Given the description of an element on the screen output the (x, y) to click on. 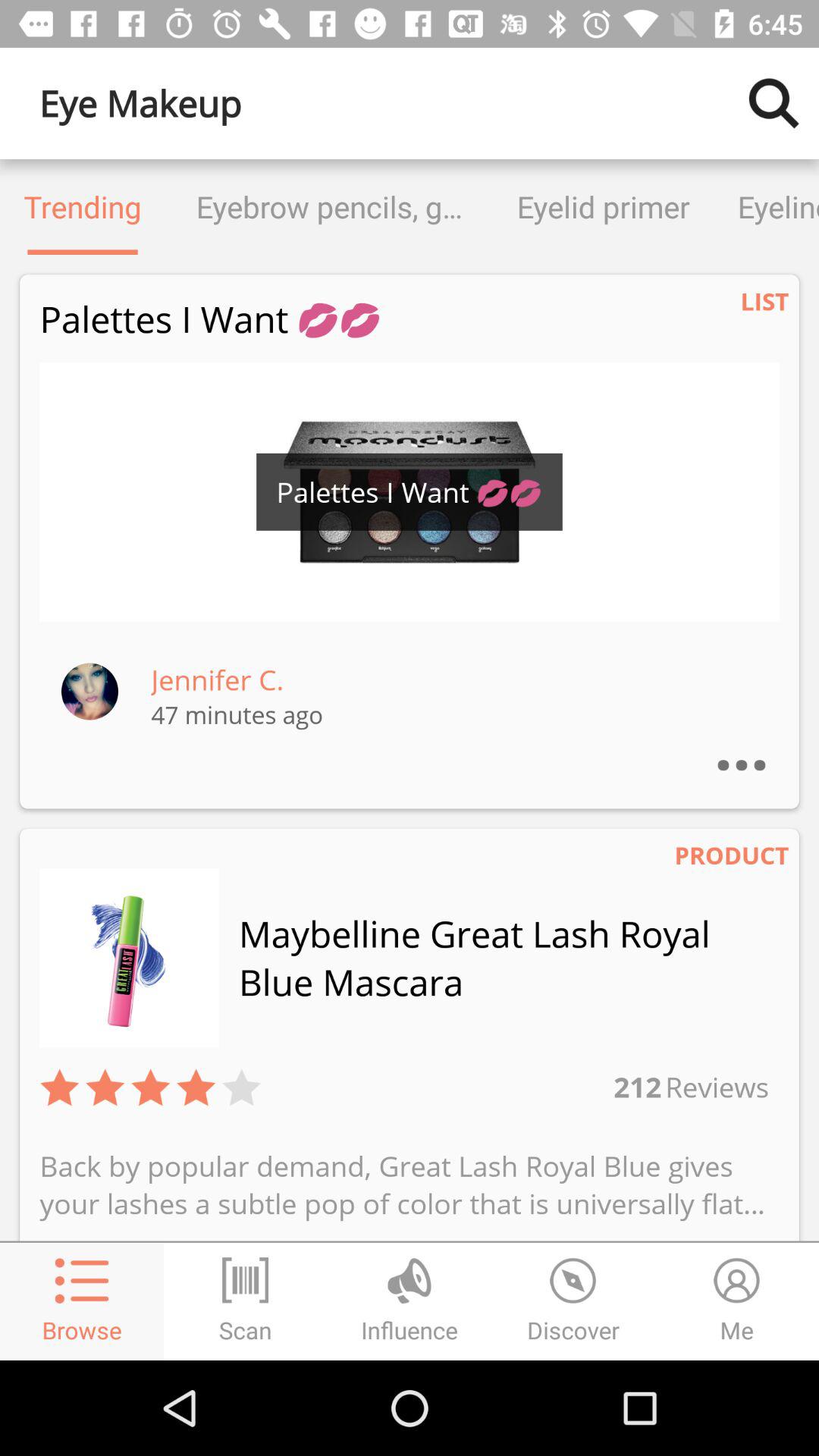
open the item next to eye makeup (773, 103)
